Given the description of an element on the screen output the (x, y) to click on. 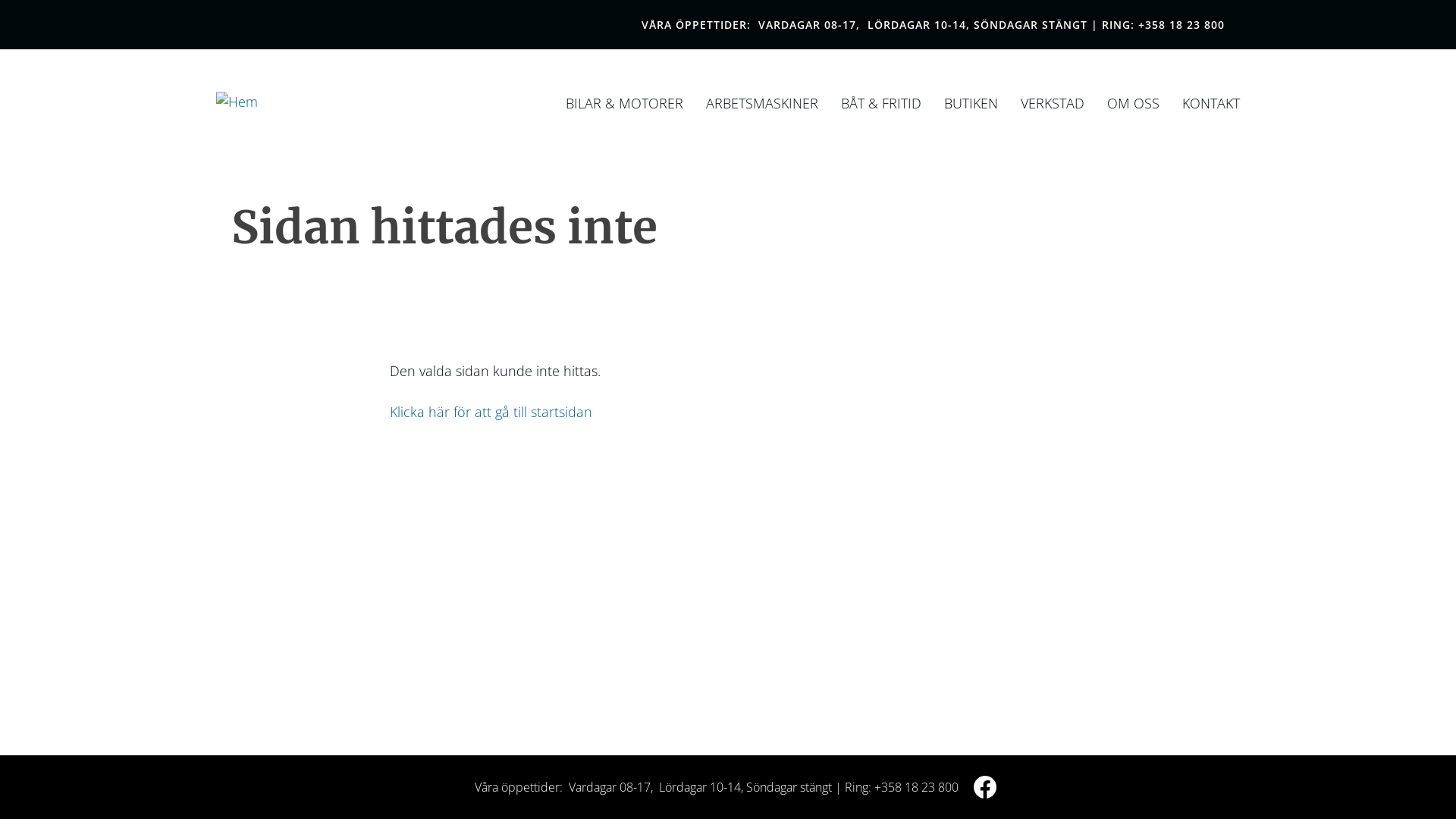
+358 18 23 800 Element type: text (916, 786)
OM OSS Element type: text (1133, 103)
BUTIKEN Element type: text (970, 103)
VERKSTAD Element type: text (1052, 103)
ARBETSMASKINER Element type: text (762, 103)
BILAR & MOTORER Element type: text (624, 103)
KONTAKT Element type: text (1210, 103)
+358 18 23 800 Element type: text (1181, 24)
